Given the description of an element on the screen output the (x, y) to click on. 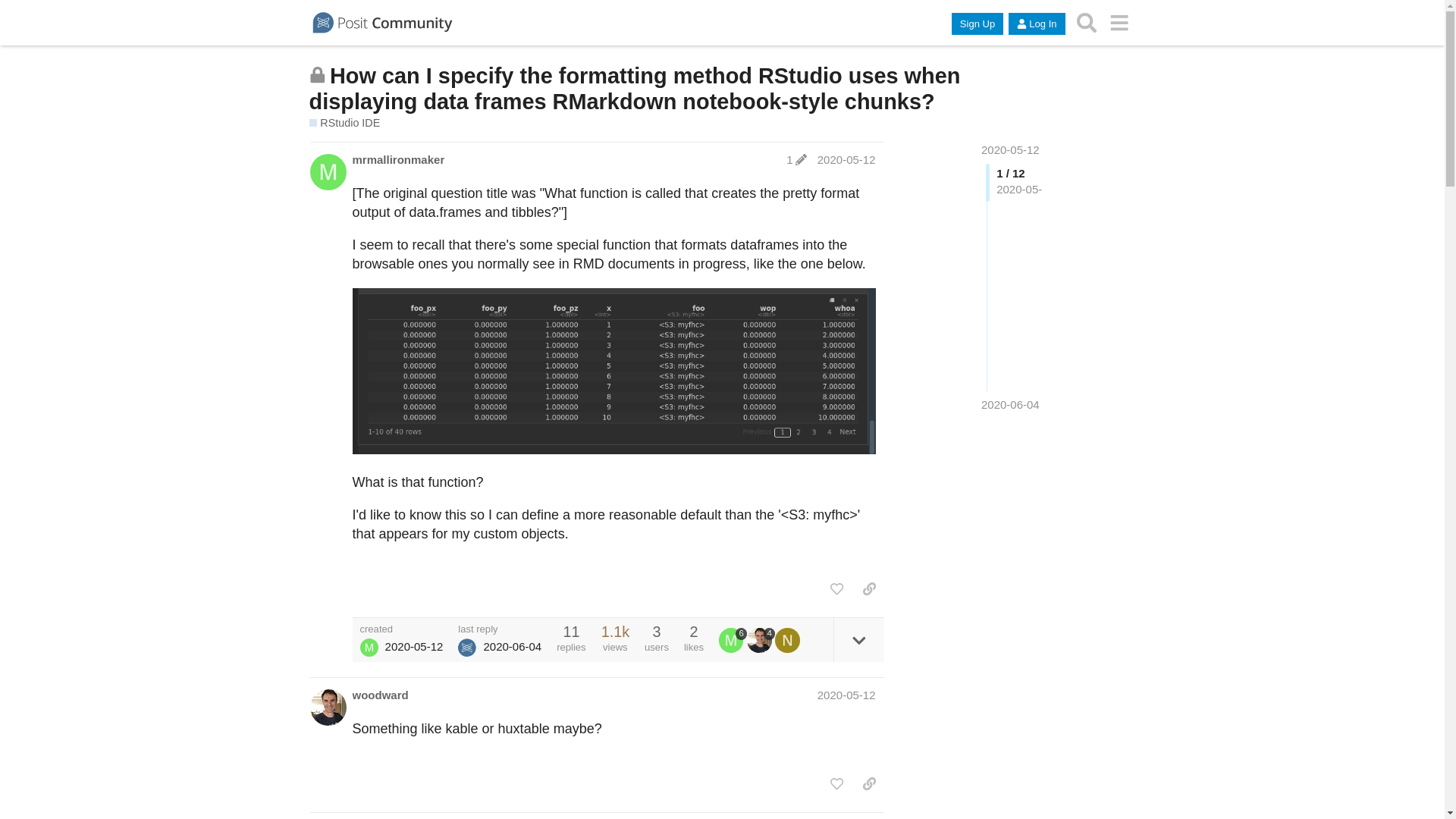
menu (1119, 22)
Sign Up (977, 24)
2020-05-12 (846, 694)
post last edited on May 14, 2020 8:16 am (795, 159)
1 (795, 159)
This topic is closed; it no longer accepts new replies (317, 74)
woodward (379, 694)
RStudio IDE, both desktop and server versions. (344, 122)
Jun 4, 2020 8:50 am (1010, 404)
RStudio IDE (344, 122)
